Given the description of an element on the screen output the (x, y) to click on. 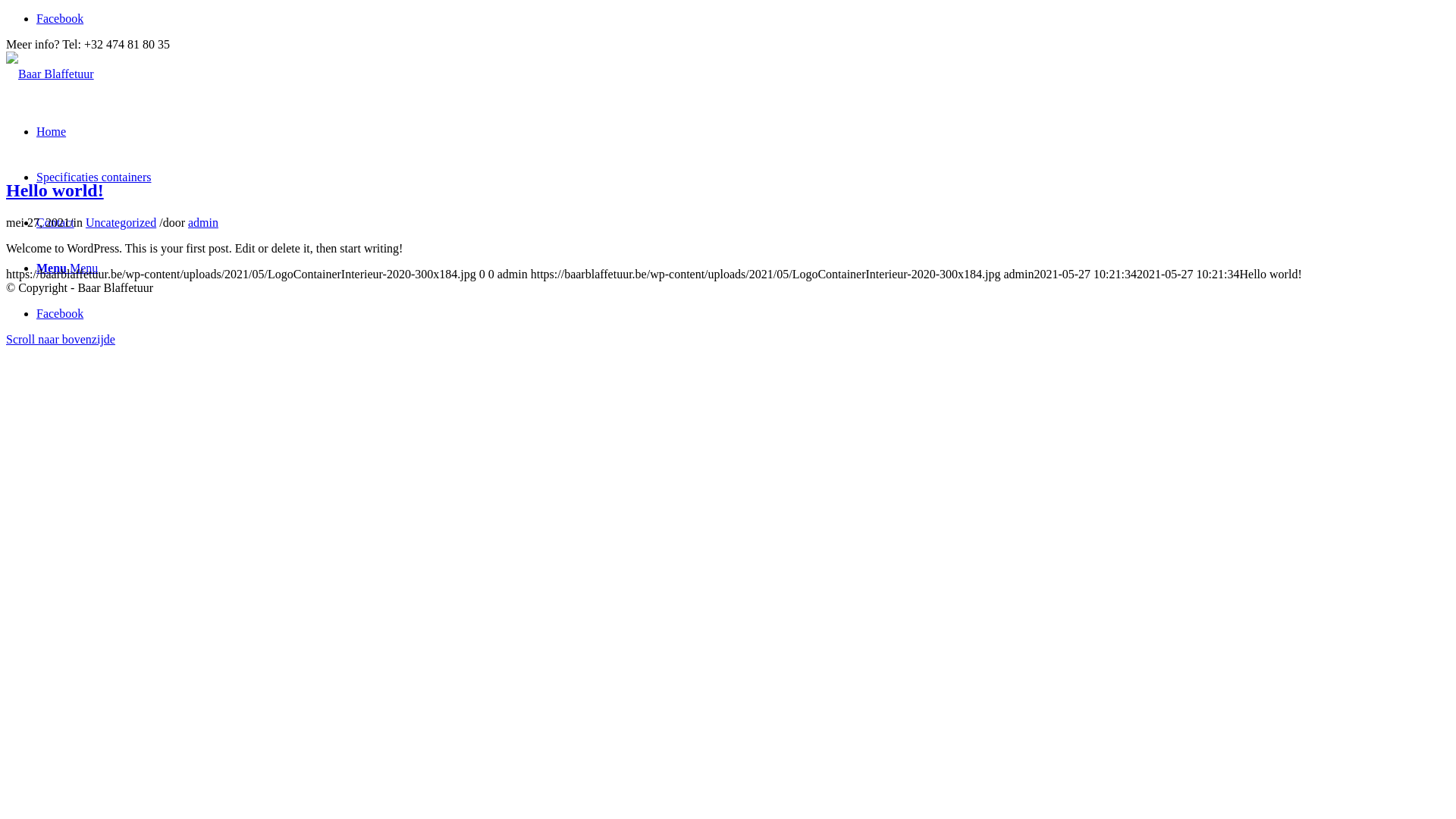
Facebook Element type: text (59, 313)
admin Element type: text (203, 222)
Specificaties containers Element type: text (93, 176)
Menu Menu Element type: text (66, 267)
Contact Element type: text (55, 222)
Facebook Element type: text (59, 18)
Home Element type: text (50, 131)
Scroll naar bovenzijde Element type: text (60, 338)
Hello world! Element type: text (54, 190)
Uncategorized Element type: text (120, 222)
